Given the description of an element on the screen output the (x, y) to click on. 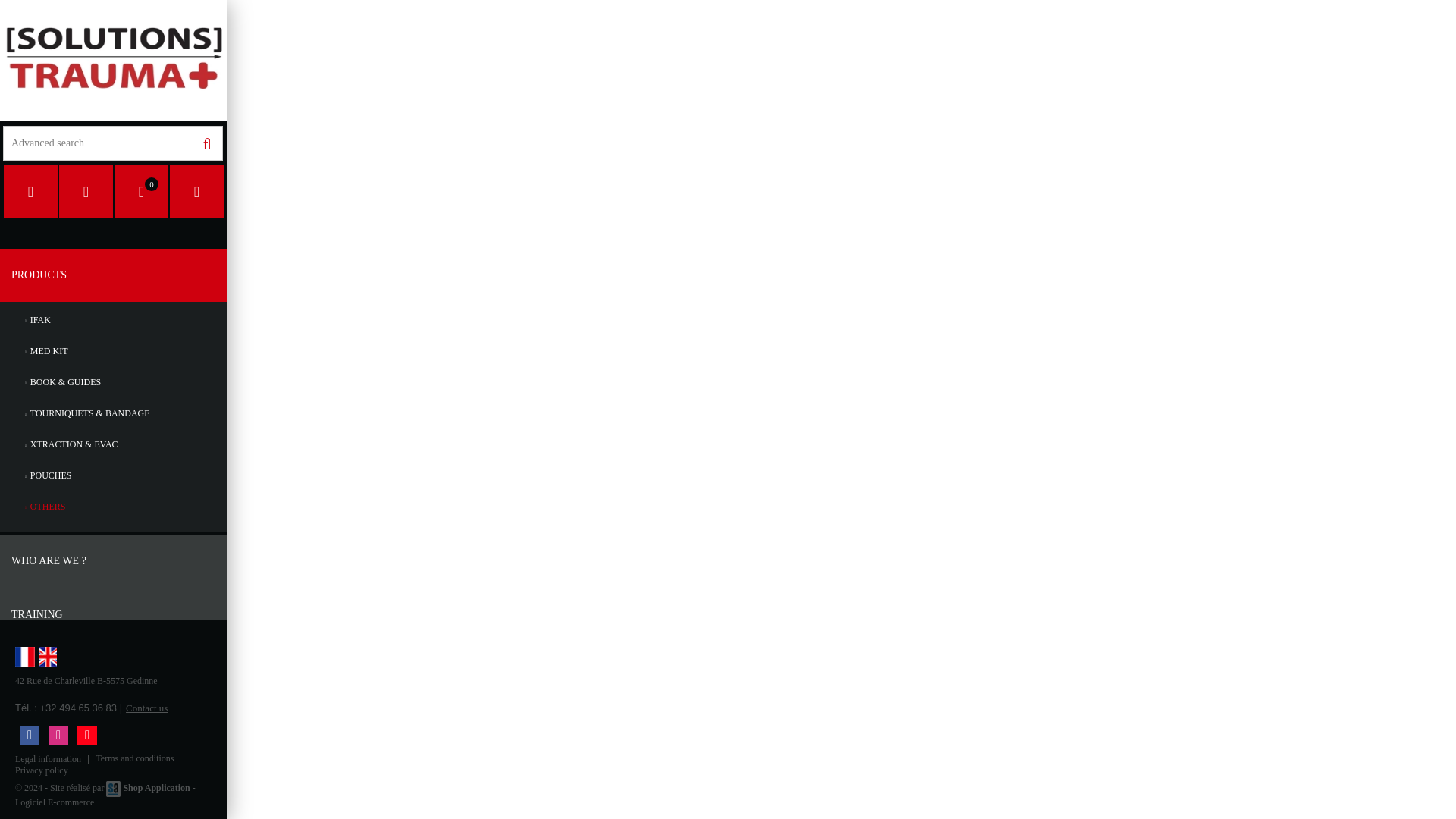
youtube (87, 735)
WHO ARE WE ? (113, 561)
facebook (29, 735)
Privacy policy (41, 769)
Shop Application (155, 787)
OTHERS (113, 506)
Legal information (47, 758)
logo-solutionstrauma.com (113, 61)
PRODUCTS (113, 275)
IFAK (113, 319)
